Given the description of an element on the screen output the (x, y) to click on. 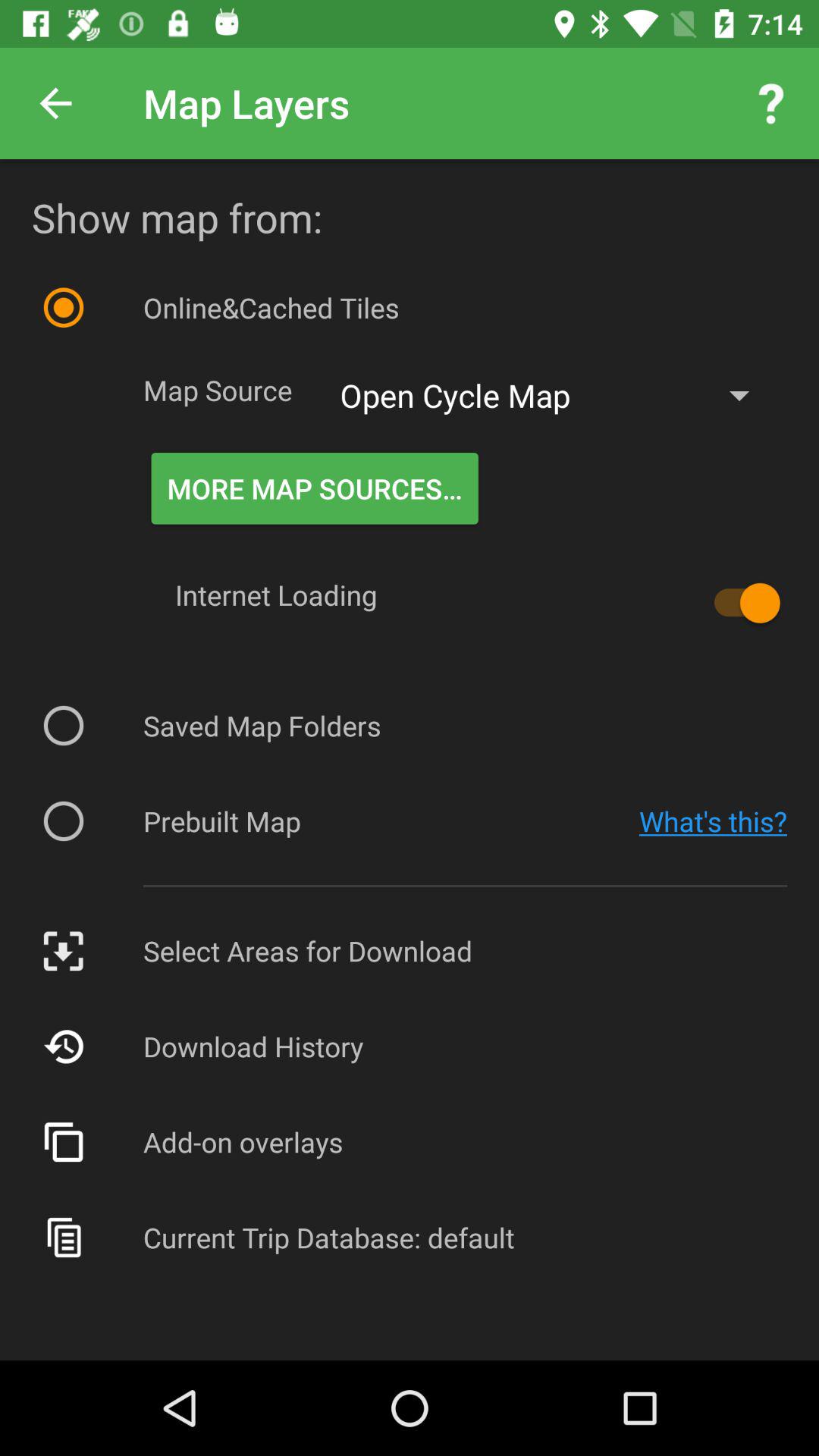
tap what's this? item (713, 821)
